Given the description of an element on the screen output the (x, y) to click on. 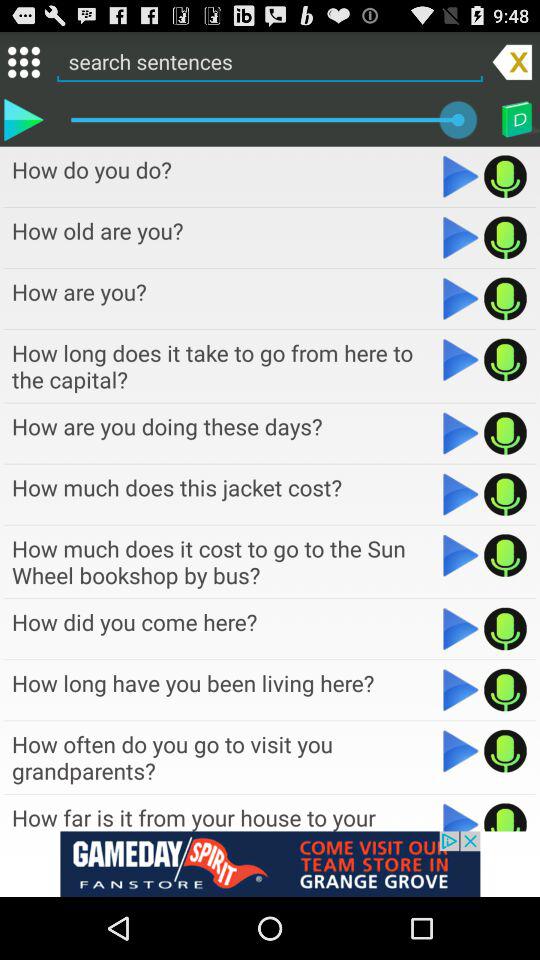
microphone (505, 816)
